Given the description of an element on the screen output the (x, y) to click on. 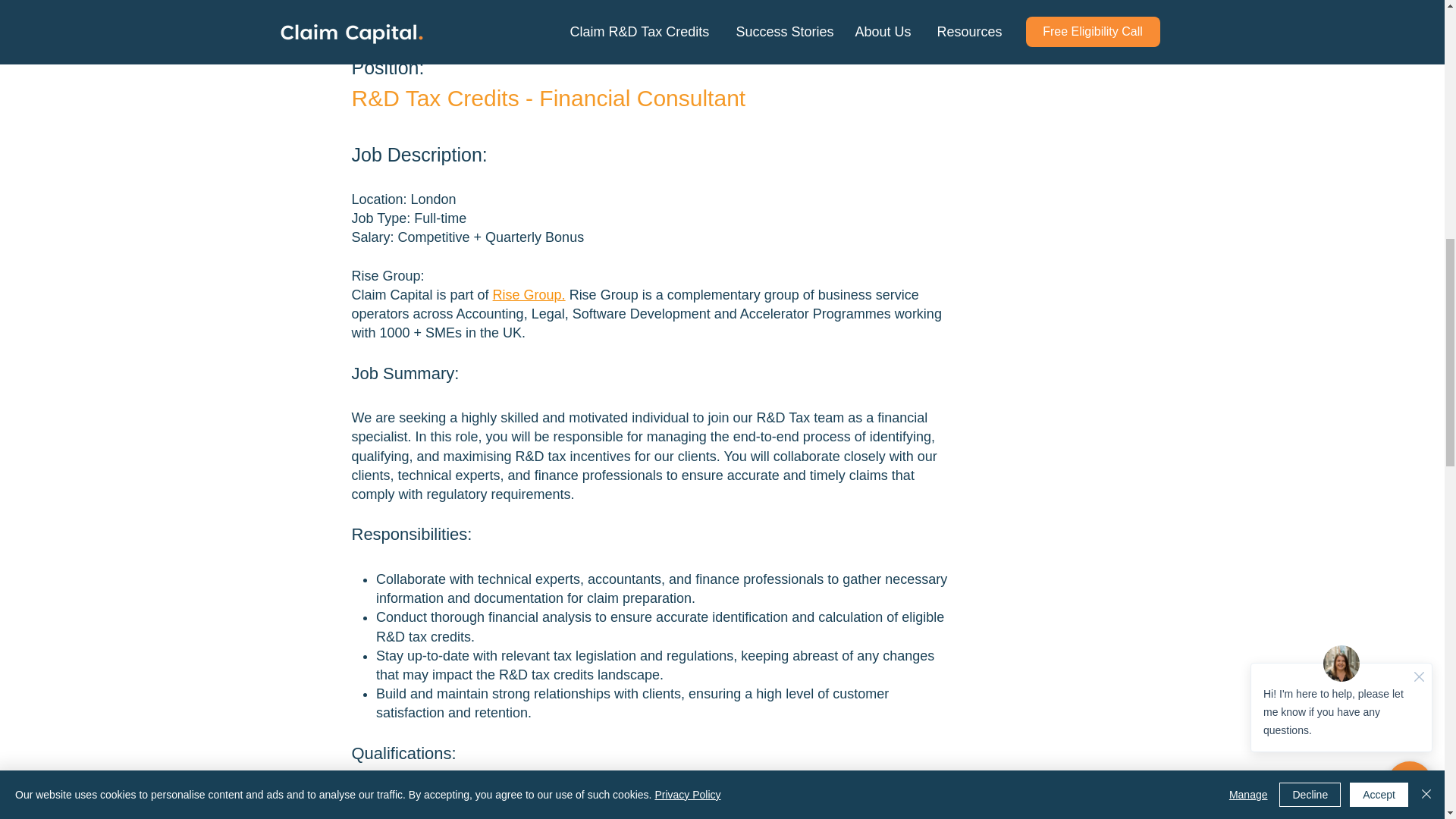
Rise Group. (529, 294)
